Given the description of an element on the screen output the (x, y) to click on. 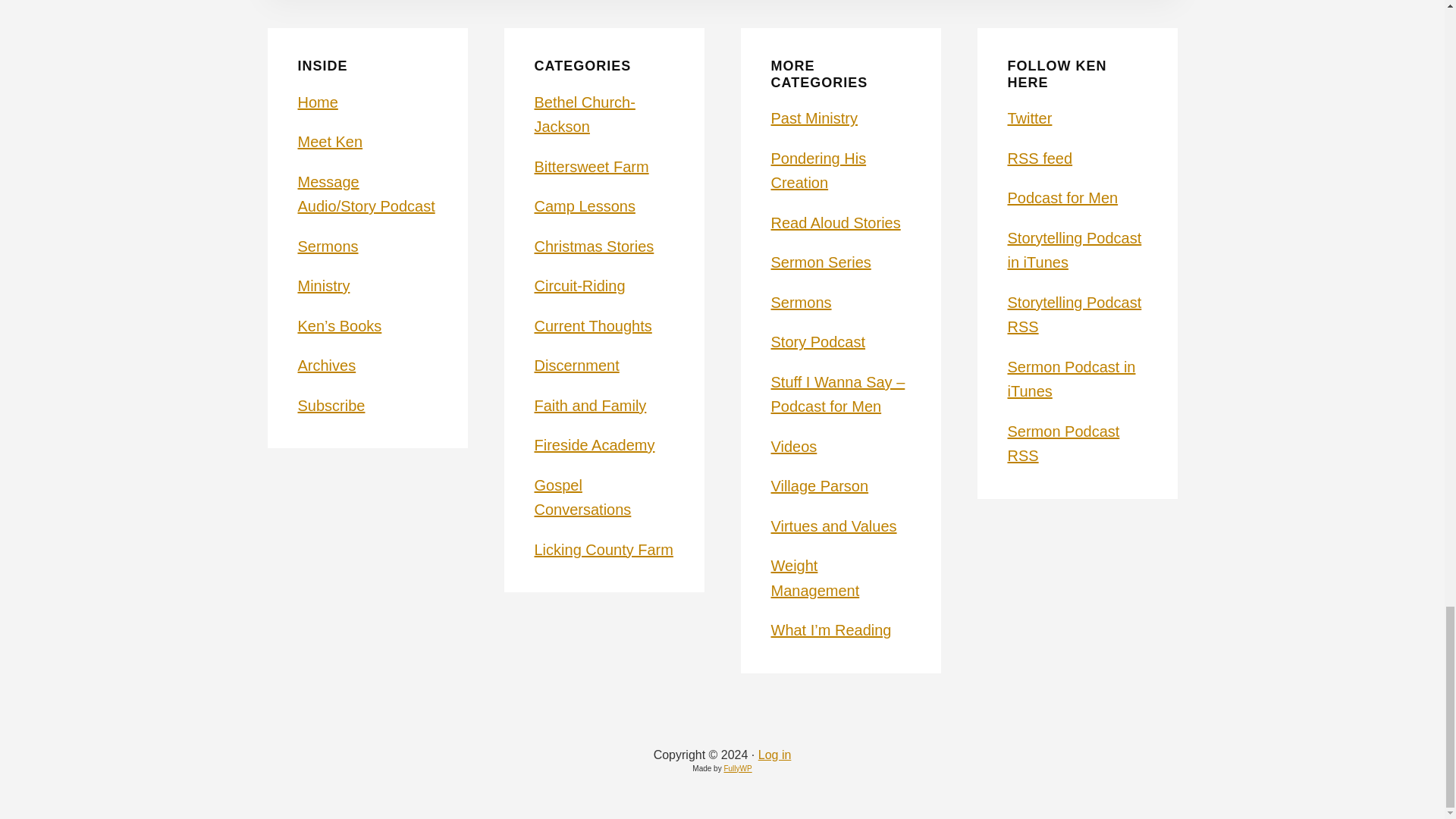
Meet Ken (329, 141)
Home (317, 102)
Sermons (327, 246)
